Given the description of an element on the screen output the (x, y) to click on. 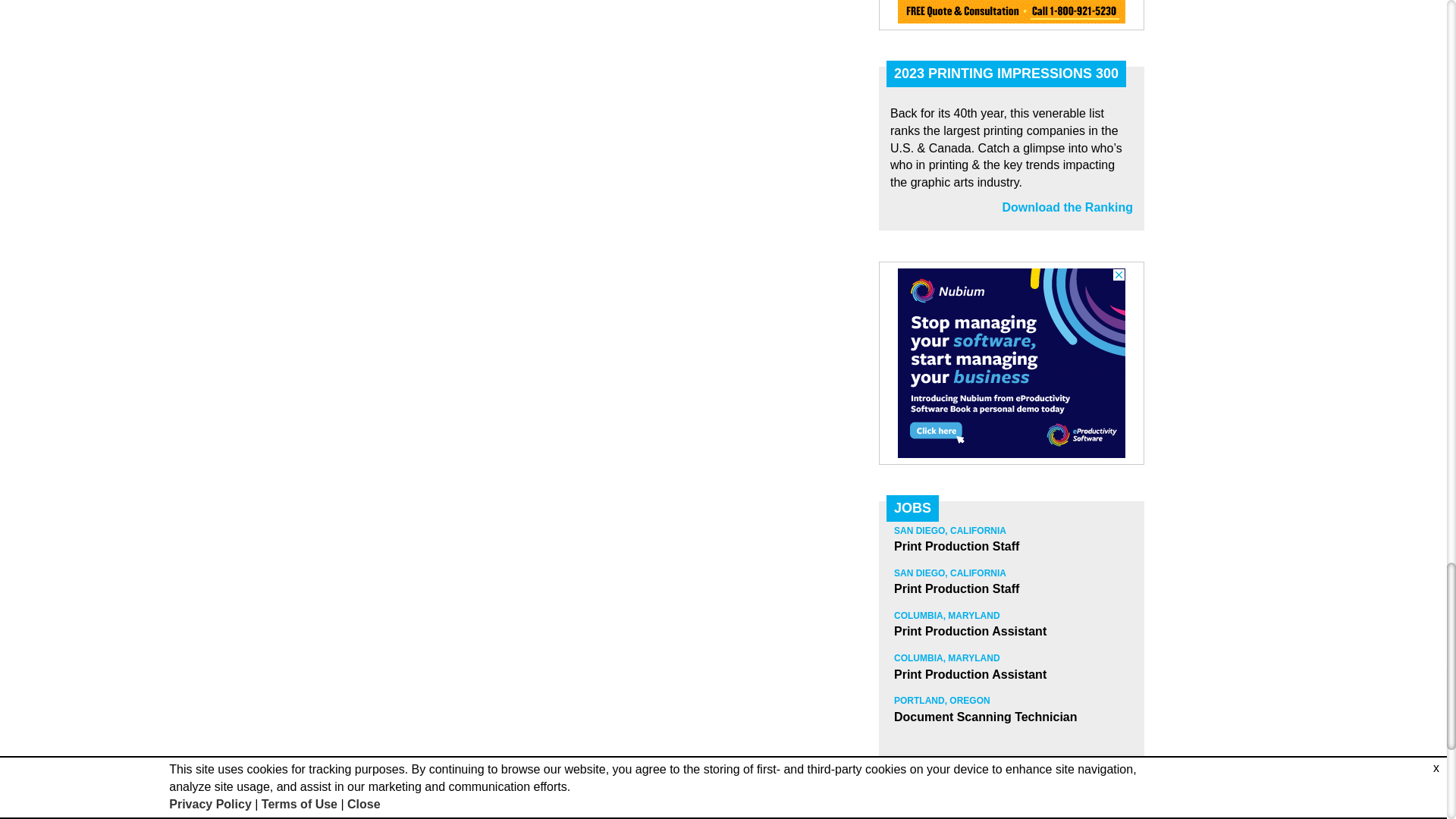
3rd party ad content (1011, 362)
3rd party ad content (1011, 11)
Opens in a new window (1067, 206)
